Given the description of an element on the screen output the (x, y) to click on. 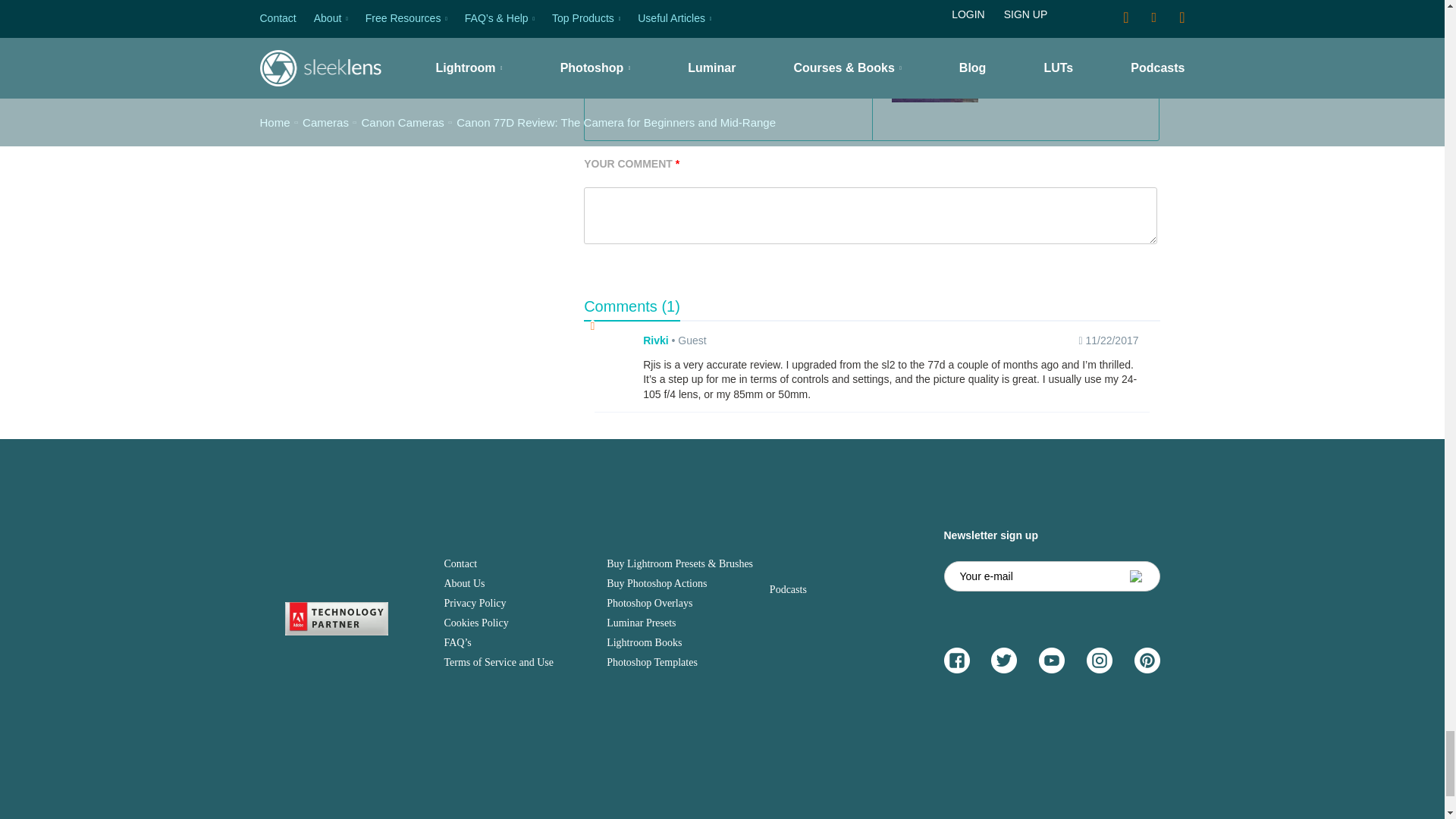
Your e-mail (1050, 576)
